Given the description of an element on the screen output the (x, y) to click on. 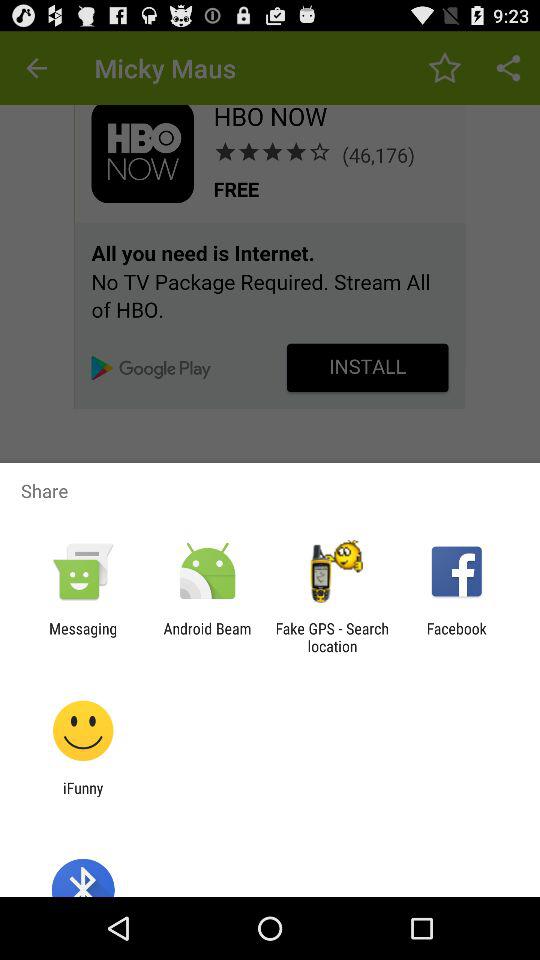
choose icon to the left of android beam app (83, 637)
